Given the description of an element on the screen output the (x, y) to click on. 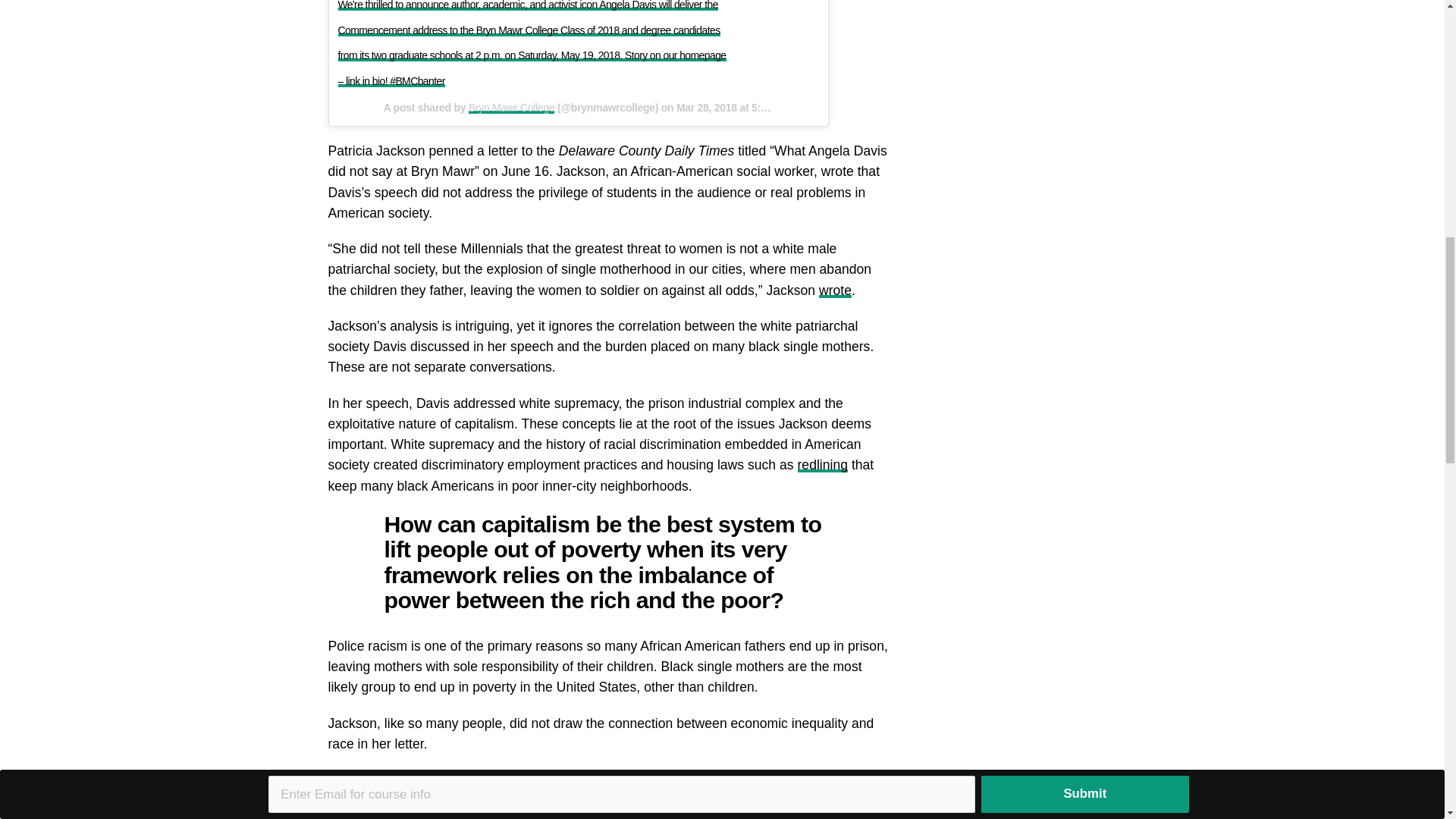
wrote (834, 290)
Bryn Mawr College (511, 107)
redlining (822, 464)
wrote (451, 816)
